Given the description of an element on the screen output the (x, y) to click on. 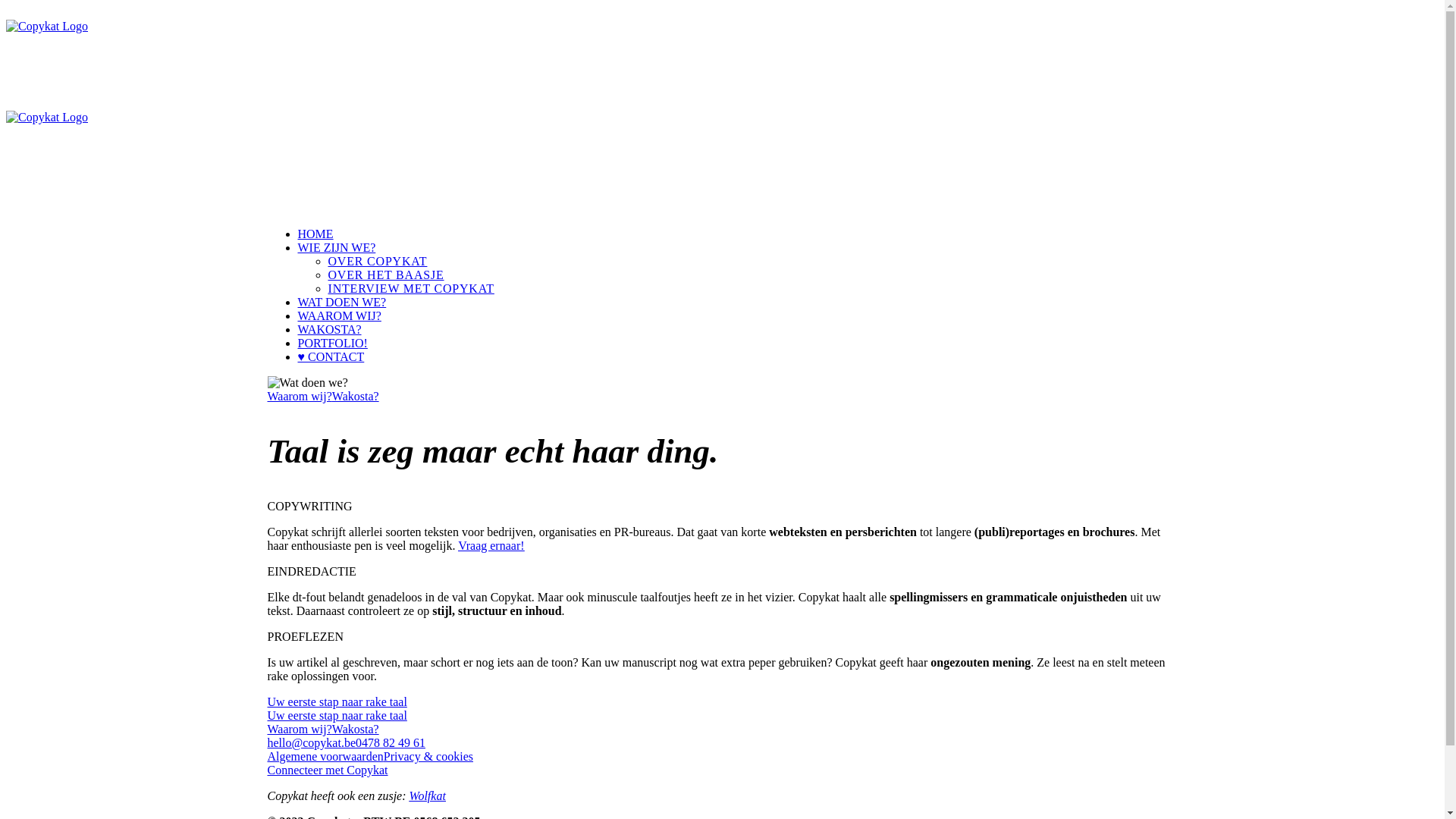
Vraag ernaar! Element type: text (491, 545)
WAKOSTA? Element type: text (328, 329)
WAT DOEN WE? Element type: text (341, 301)
Connecteer met Copykat Element type: text (326, 769)
Wakosta? Element type: text (355, 728)
INTERVIEW MET COPYKAT Element type: text (410, 288)
Waarom wij? Element type: text (298, 395)
HOME Element type: text (314, 233)
Uw eerste stap naar rake taal Element type: text (336, 701)
Waarom wij? Element type: text (298, 728)
OVER COPYKAT Element type: text (376, 260)
Algemene voorwaarden Element type: text (324, 755)
Privacy & cookies Element type: text (428, 755)
PORTFOLIO! Element type: text (332, 342)
Wolfkat Element type: text (427, 795)
WIE ZIJN WE? Element type: text (336, 247)
WAAROM WIJ? Element type: text (338, 315)
Wakosta? Element type: text (355, 395)
hello@copykat.be Element type: text (310, 742)
0478 82 49 61 Element type: text (390, 742)
Uw eerste stap naar rake taal Element type: text (336, 715)
OVER HET BAASJE Element type: text (385, 274)
